Given the description of an element on the screen output the (x, y) to click on. 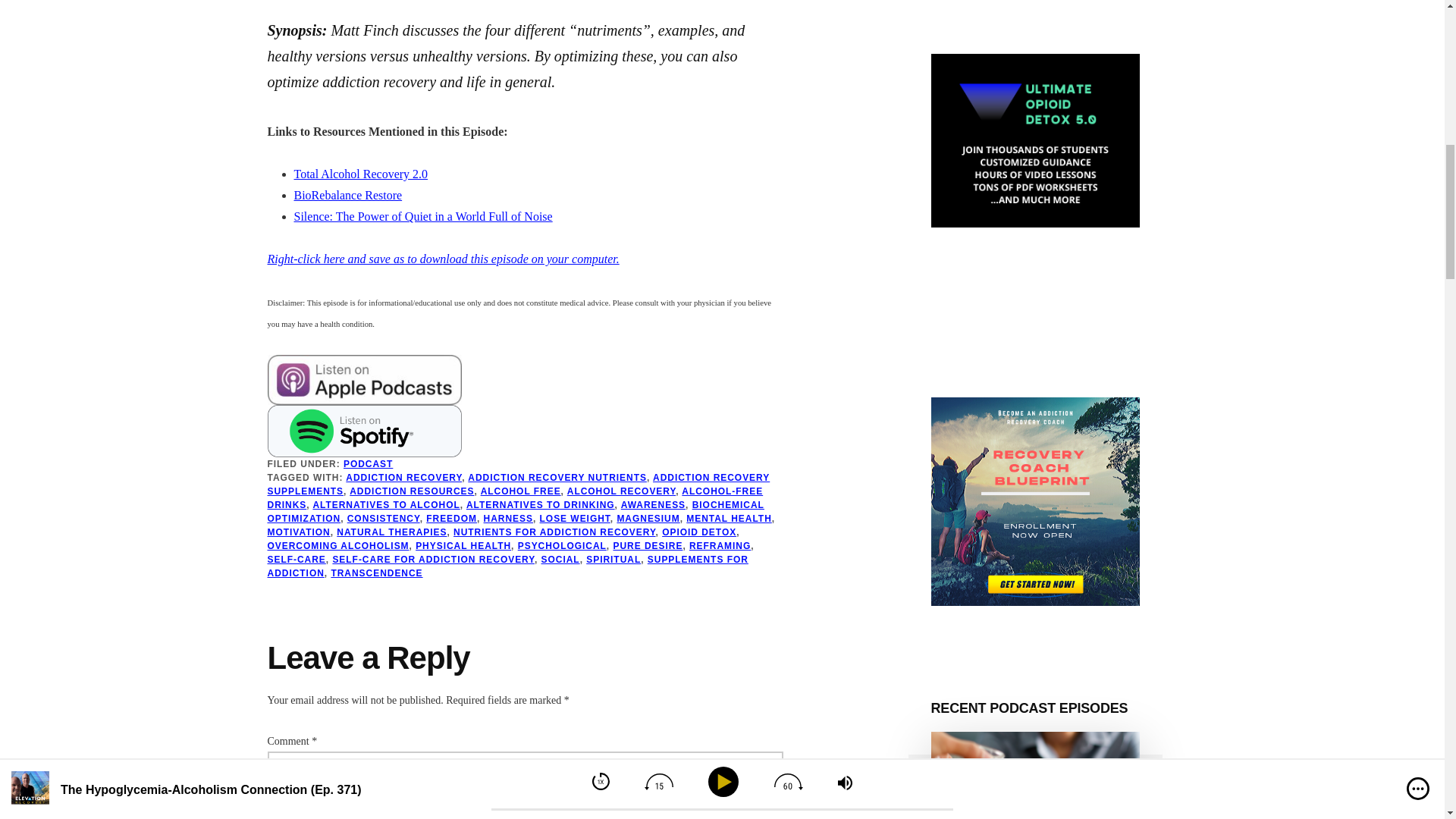
ALCOHOL RECOVERY (621, 491)
CONSISTENCY (383, 518)
BIOCHEMICAL OPTIMIZATION (514, 511)
MOTIVATION (298, 532)
ADDICTION RECOVERY (403, 477)
ALCOHOL-FREE DRINKS (514, 498)
MAGNESIUM (647, 518)
FREEDOM (451, 518)
Total Alcohol Recovery 2.0 (361, 173)
LOSE WEIGHT (575, 518)
